Given the description of an element on the screen output the (x, y) to click on. 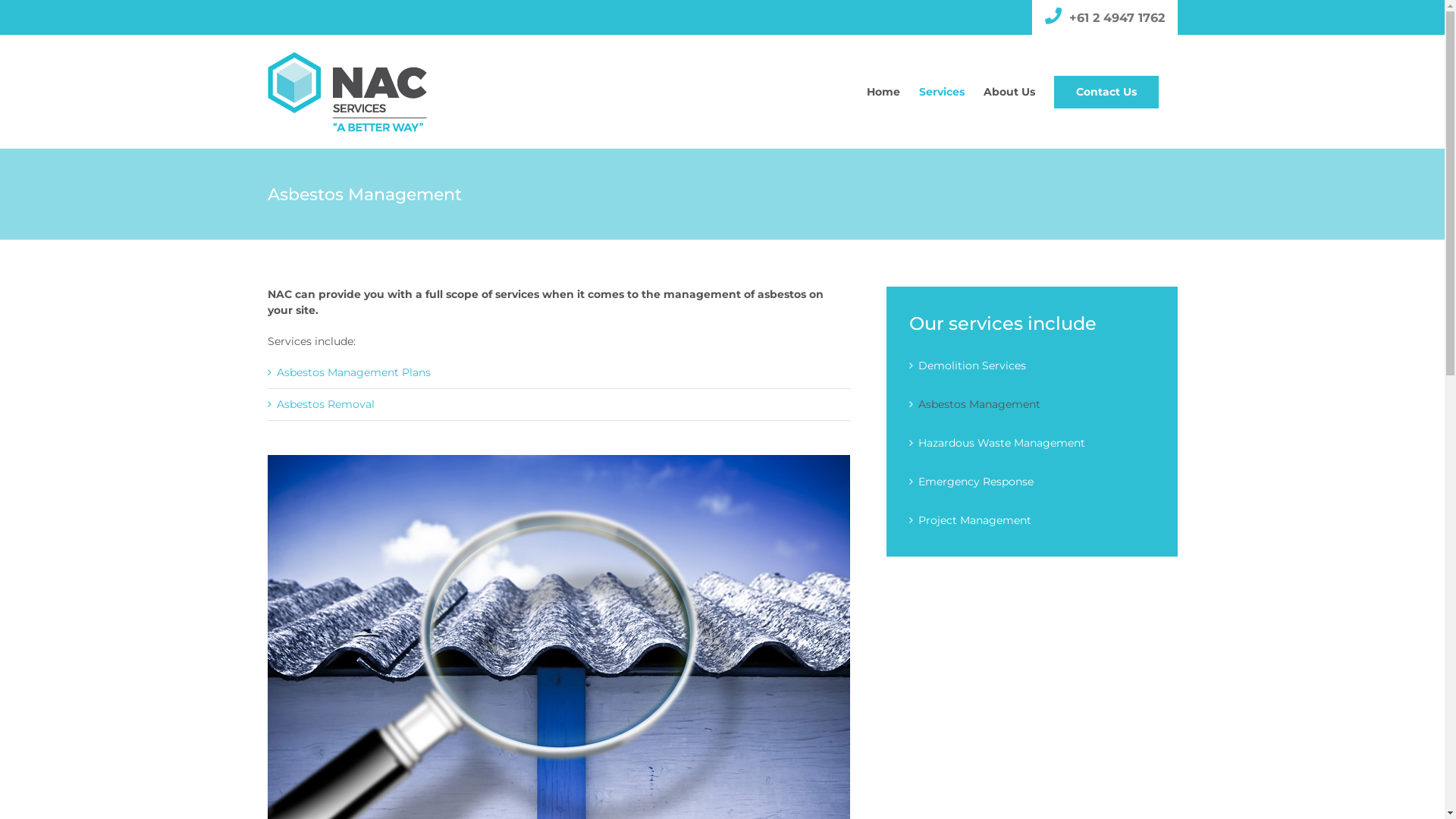
Project Management Element type: text (973, 520)
Home Element type: text (882, 91)
Hazardous Waste Management Element type: text (1000, 442)
Demolition Services Element type: text (971, 365)
Emergency Response Element type: text (974, 481)
Contact Us Element type: text (1106, 91)
About Us Element type: text (1008, 91)
+61 2 4947 1762 Element type: text (1116, 17)
Asbestos Management Element type: text (978, 404)
Services Element type: text (941, 91)
Asbestos Removal Element type: text (324, 404)
Asbestos Management Plans Element type: text (352, 372)
